Given the description of an element on the screen output the (x, y) to click on. 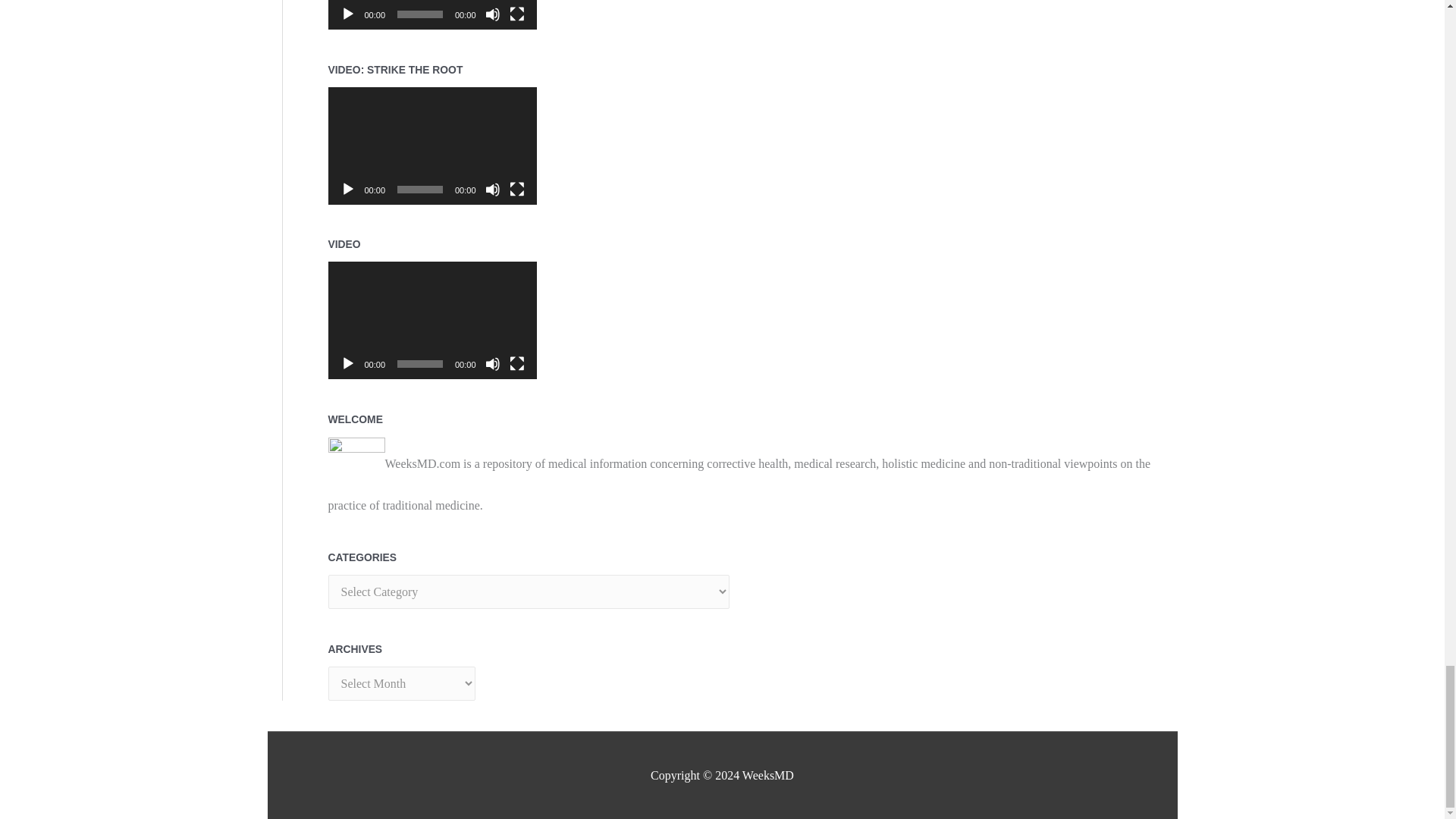
Fullscreen (516, 189)
Play (347, 189)
Play (347, 14)
Mute (492, 189)
Mute (492, 14)
Fullscreen (516, 14)
Fullscreen (516, 363)
Mute (492, 363)
Play (347, 363)
